Given the description of an element on the screen output the (x, y) to click on. 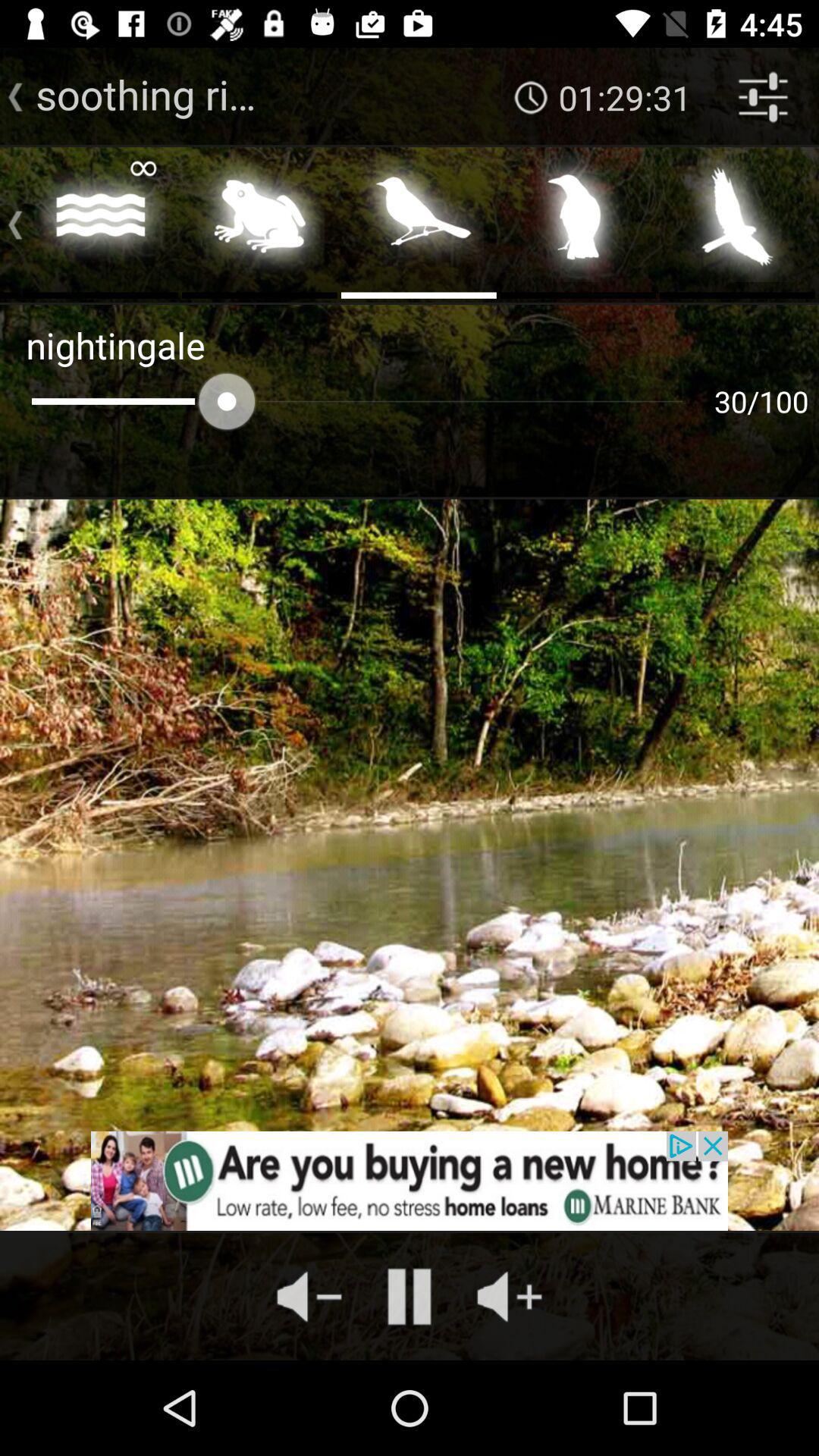
insert the picture (259, 221)
